Given the description of an element on the screen output the (x, y) to click on. 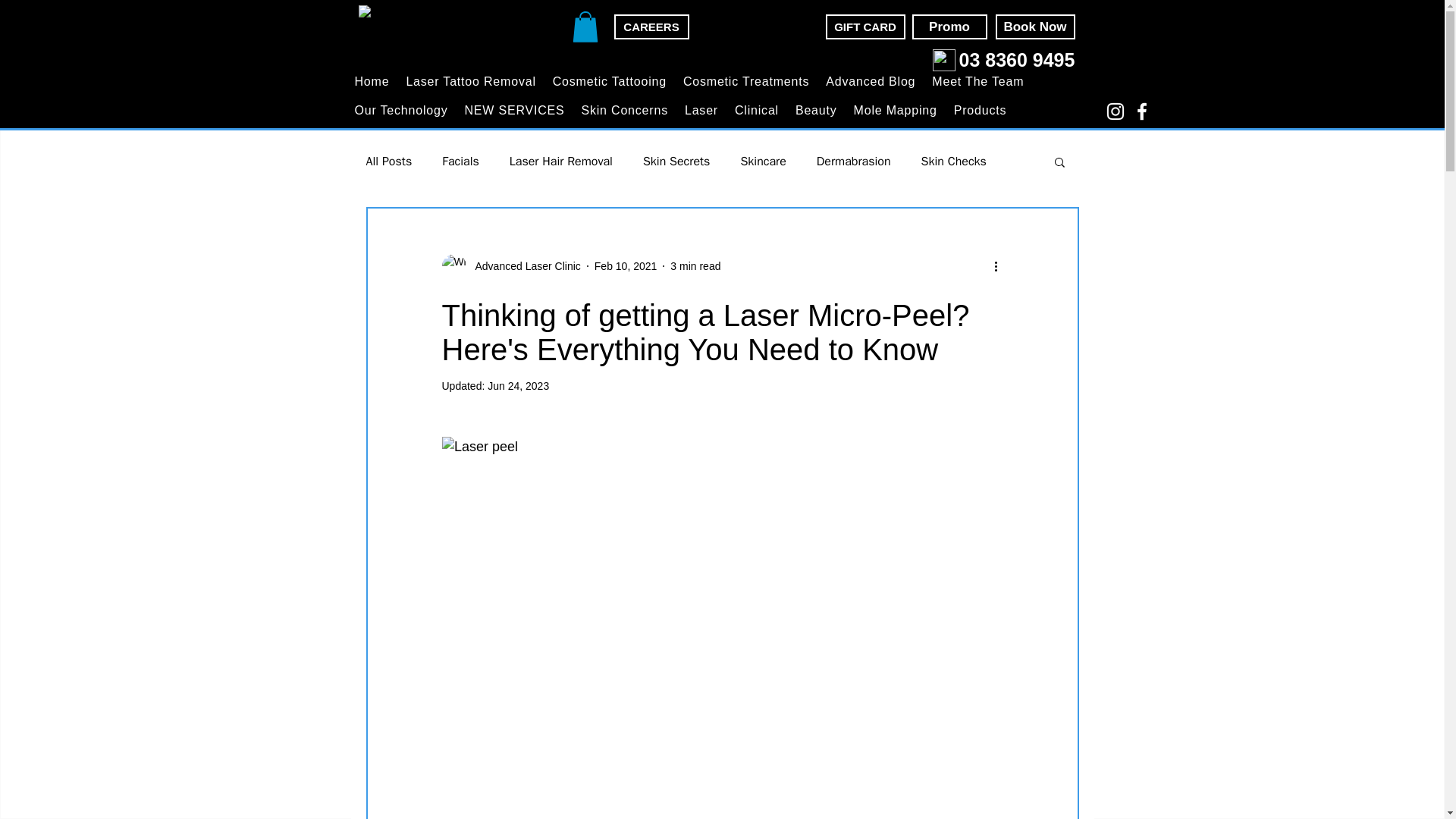
Book Now (1034, 26)
Our Technology (400, 110)
Feb 10, 2021 (626, 265)
CAREERS (651, 26)
CALL US (944, 60)
Advanced Laser Clinic (522, 265)
Laser Tattoo Removal (469, 81)
Meet The Team (977, 81)
GIFT CARD (864, 26)
03 8360 9495 (1016, 59)
Home (371, 81)
Promo (949, 26)
3 min read (694, 265)
Cosmetic Tattooing (608, 81)
Jun 24, 2023 (517, 386)
